Given the description of an element on the screen output the (x, y) to click on. 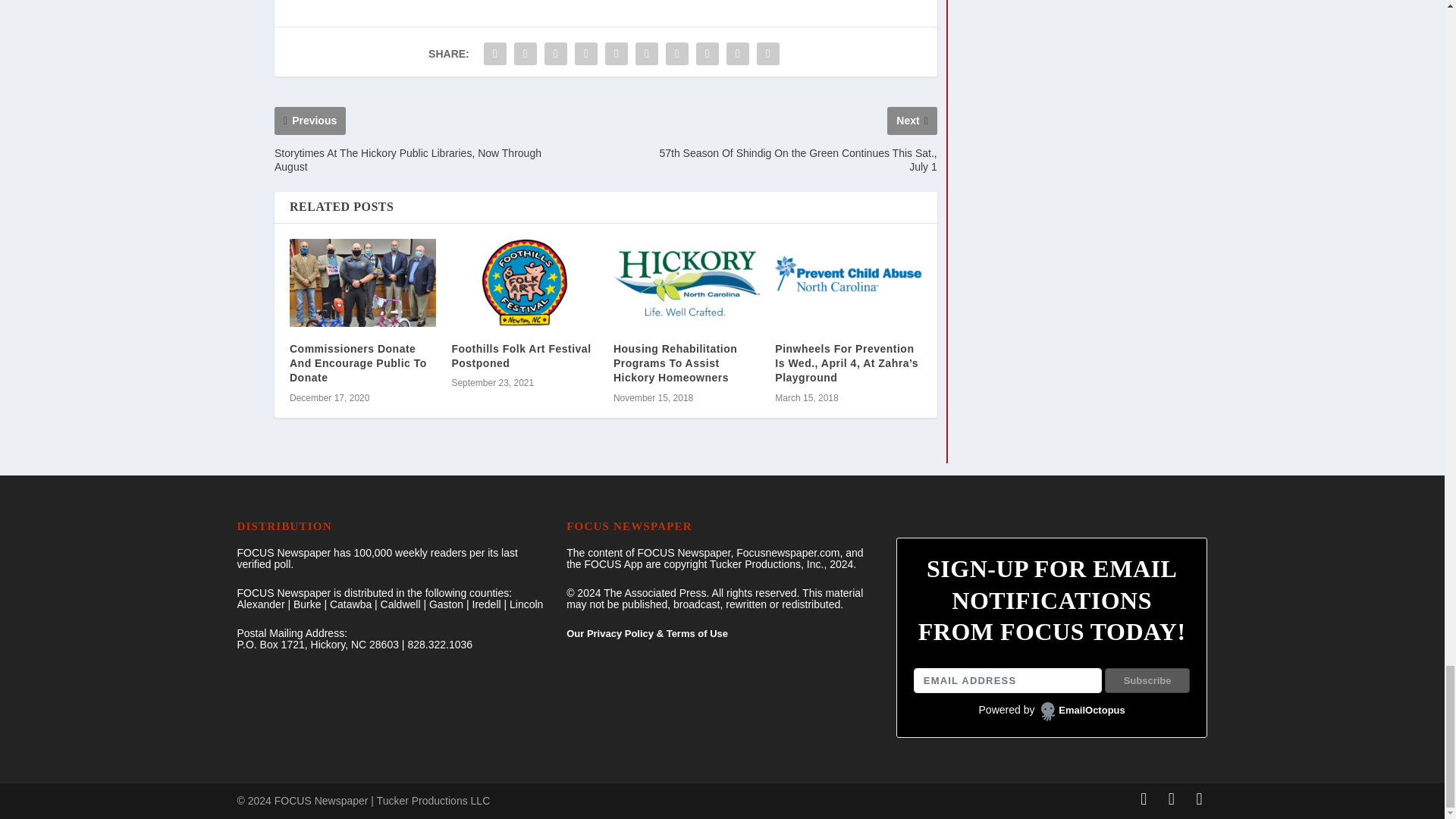
Foothills Folk Art Festival Postponed (523, 282)
Commissioners Donate And Encourage Public To Donate (362, 282)
Subscribe (1148, 680)
